Given the description of an element on the screen output the (x, y) to click on. 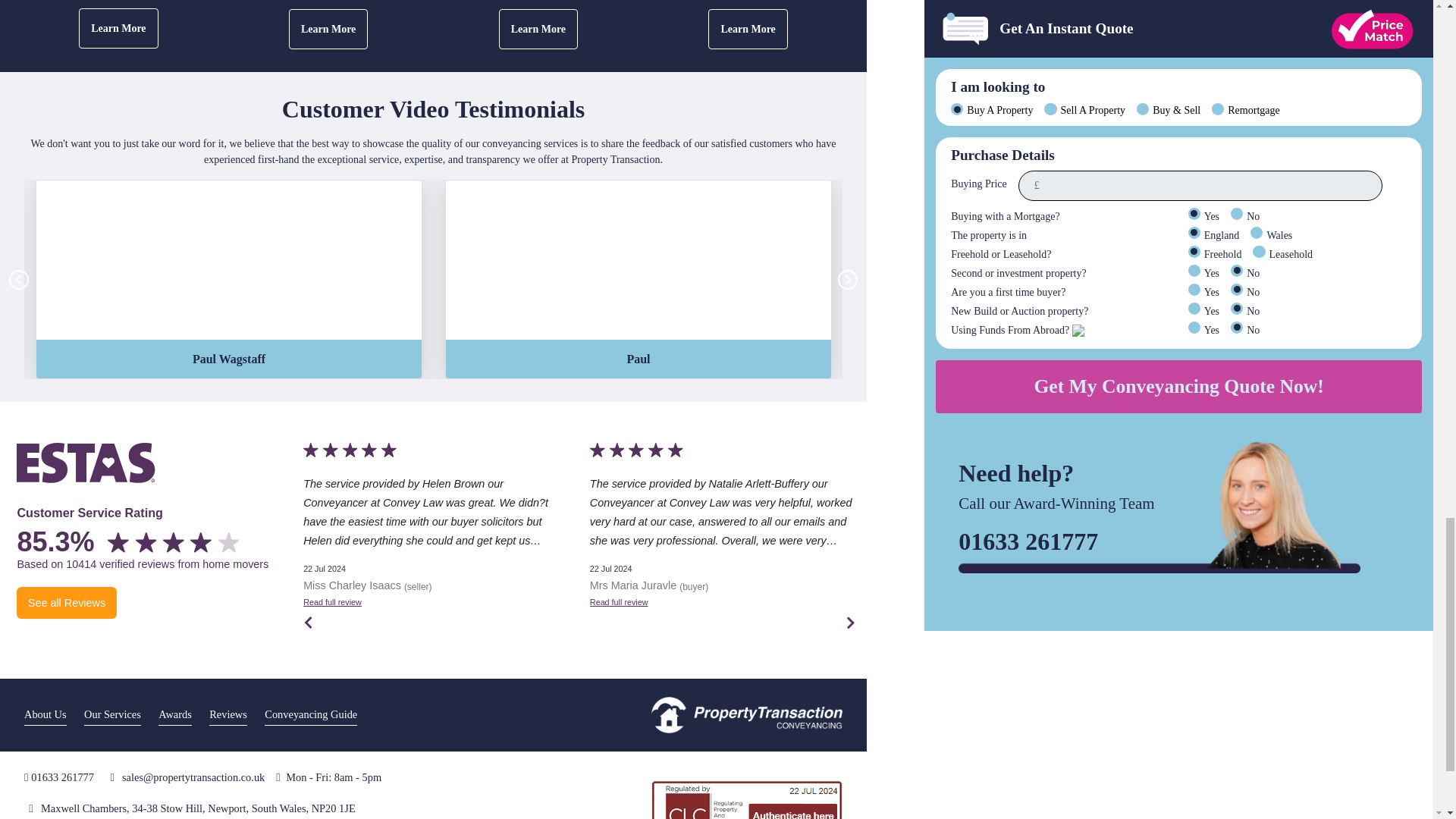
YouTube video player (638, 259)
YouTube video player (229, 259)
